Given the description of an element on the screen output the (x, y) to click on. 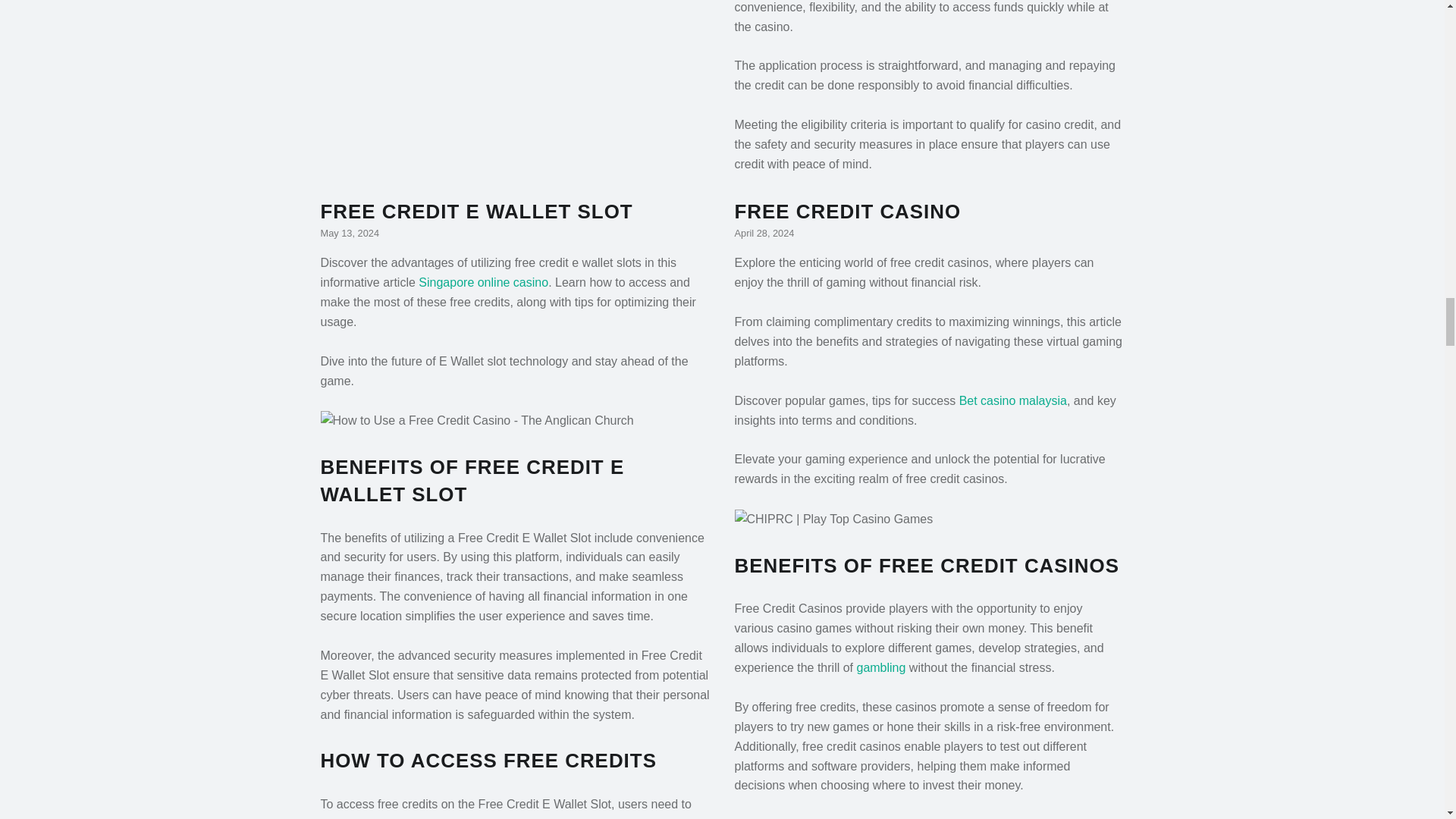
April 28, 2024 (763, 233)
May 13, 2024 (349, 233)
gambling (880, 667)
Bet casino malaysia (1013, 400)
3:53 am (763, 233)
FREE CREDIT E WALLET SLOT (475, 210)
Singapore online casino (483, 282)
7:57 am (349, 233)
FREE CREDIT CASINO (846, 210)
